Given the description of an element on the screen output the (x, y) to click on. 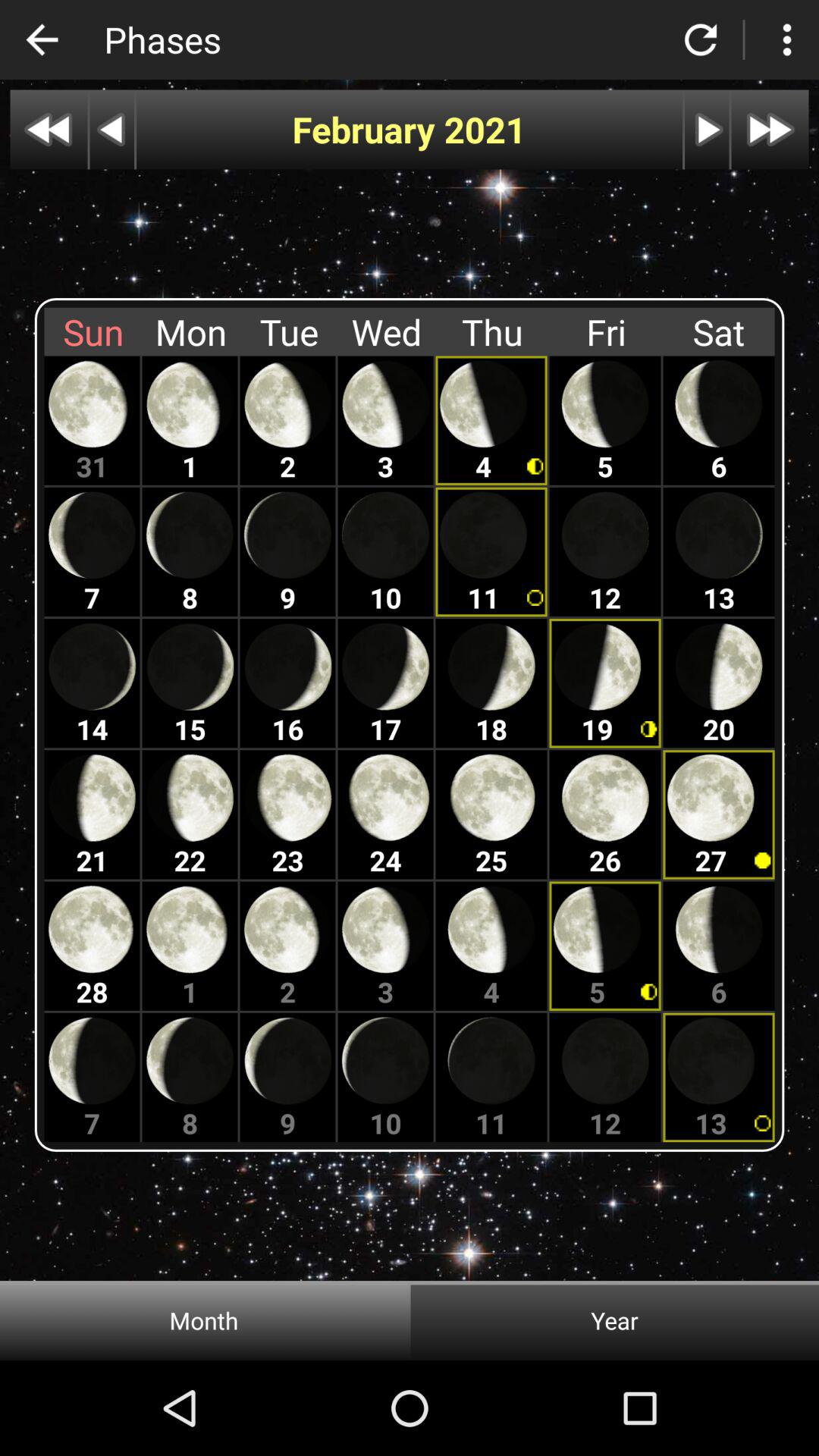
go back (48, 129)
